Given the description of an element on the screen output the (x, y) to click on. 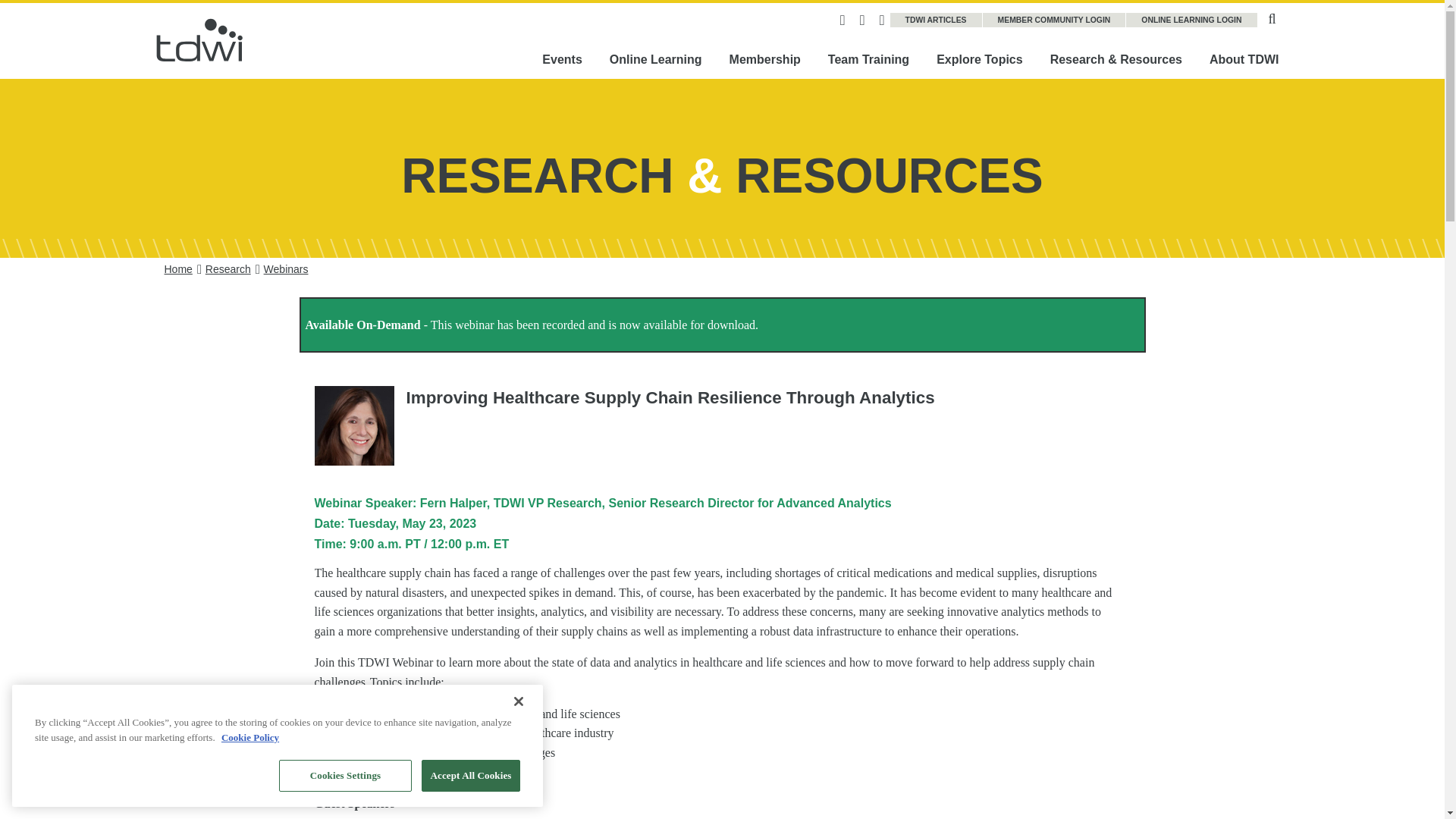
Explore Topics (979, 59)
TDWI ARTICLES (935, 20)
Team Training (868, 59)
Membership (764, 59)
MEMBER COMMUNITY LOGIN (1054, 20)
Online Learning (655, 59)
Search (1272, 16)
Events (561, 59)
ONLINE LEARNING LOGIN (1191, 20)
